Given the description of an element on the screen output the (x, y) to click on. 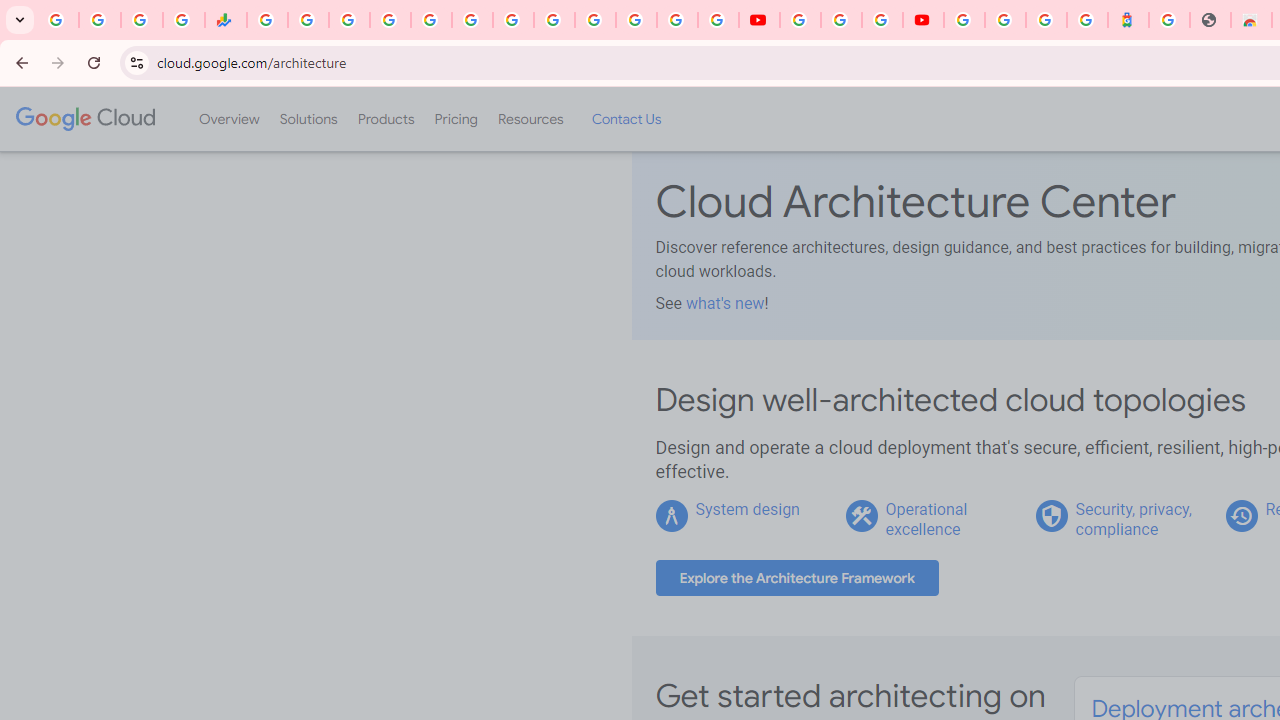
what's new (724, 303)
Pricing (455, 119)
Sign in - Google Accounts (1005, 20)
System design (747, 509)
Resources (530, 119)
Operational excellence (925, 519)
